Given the description of an element on the screen output the (x, y) to click on. 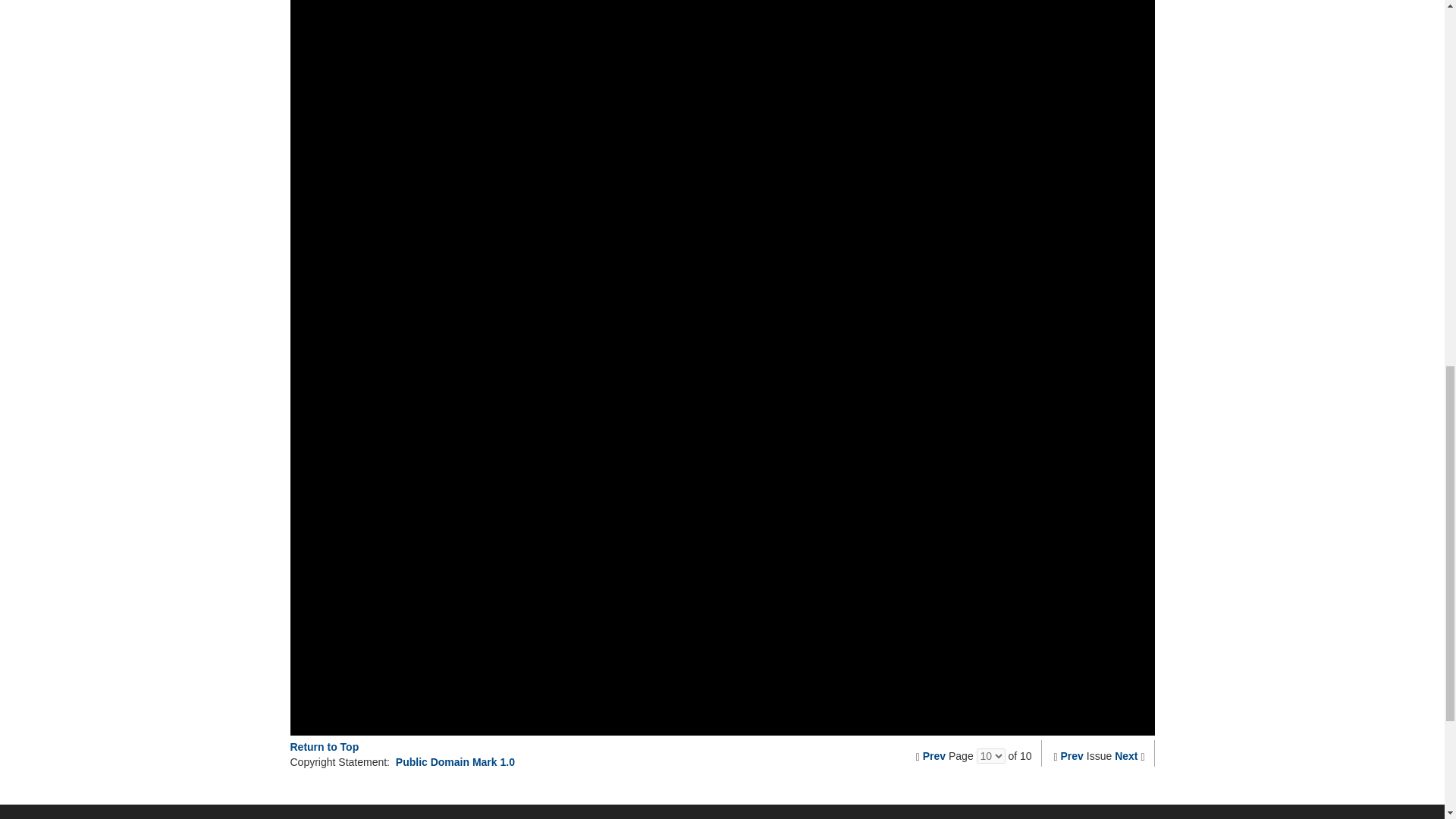
Return to Top (323, 746)
Public Domain Mark 1.0 (455, 761)
Prev (933, 756)
Prev (1072, 756)
Next (1126, 756)
